Given the description of an element on the screen output the (x, y) to click on. 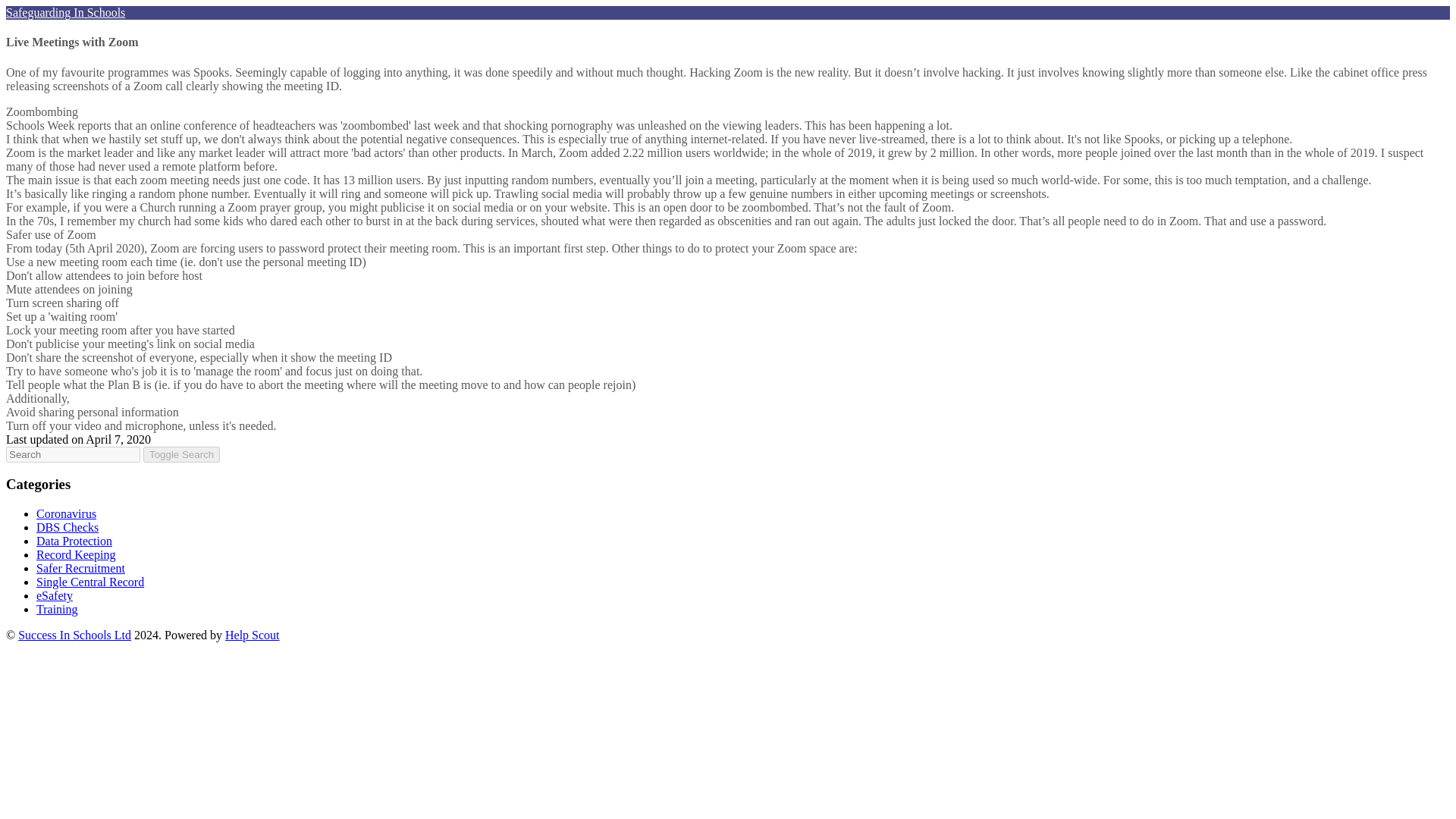
Safeguarding In Schools (65, 11)
Toggle Search (180, 454)
Single Central Record (90, 581)
Safer Recruitment (80, 567)
eSafety (54, 594)
Record Keeping (75, 554)
Coronavirus (66, 513)
Data Protection (74, 540)
Training (57, 608)
search-query (72, 454)
DBS Checks (67, 526)
